Given the description of an element on the screen output the (x, y) to click on. 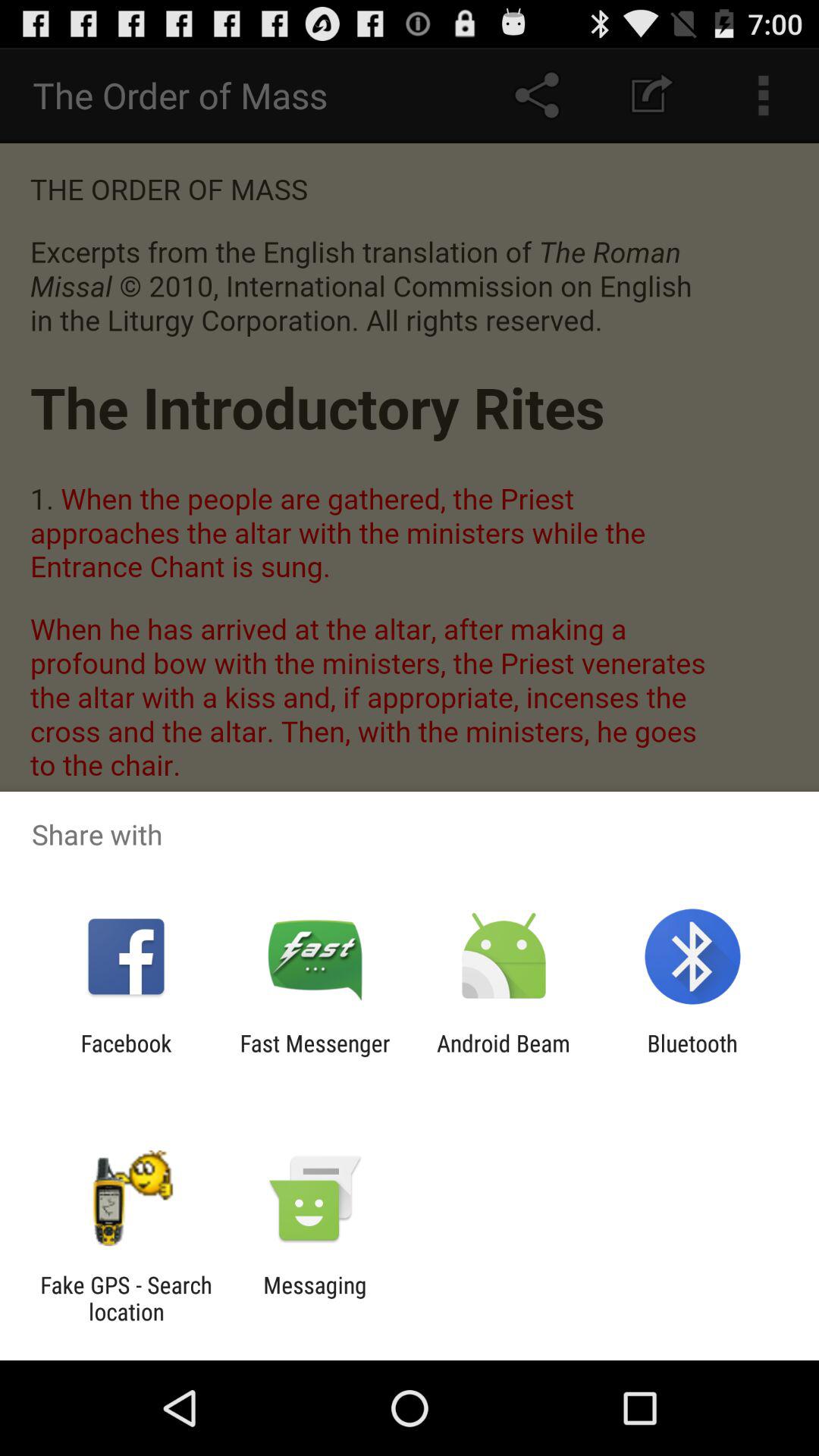
turn on item to the right of fake gps search (314, 1298)
